Given the description of an element on the screen output the (x, y) to click on. 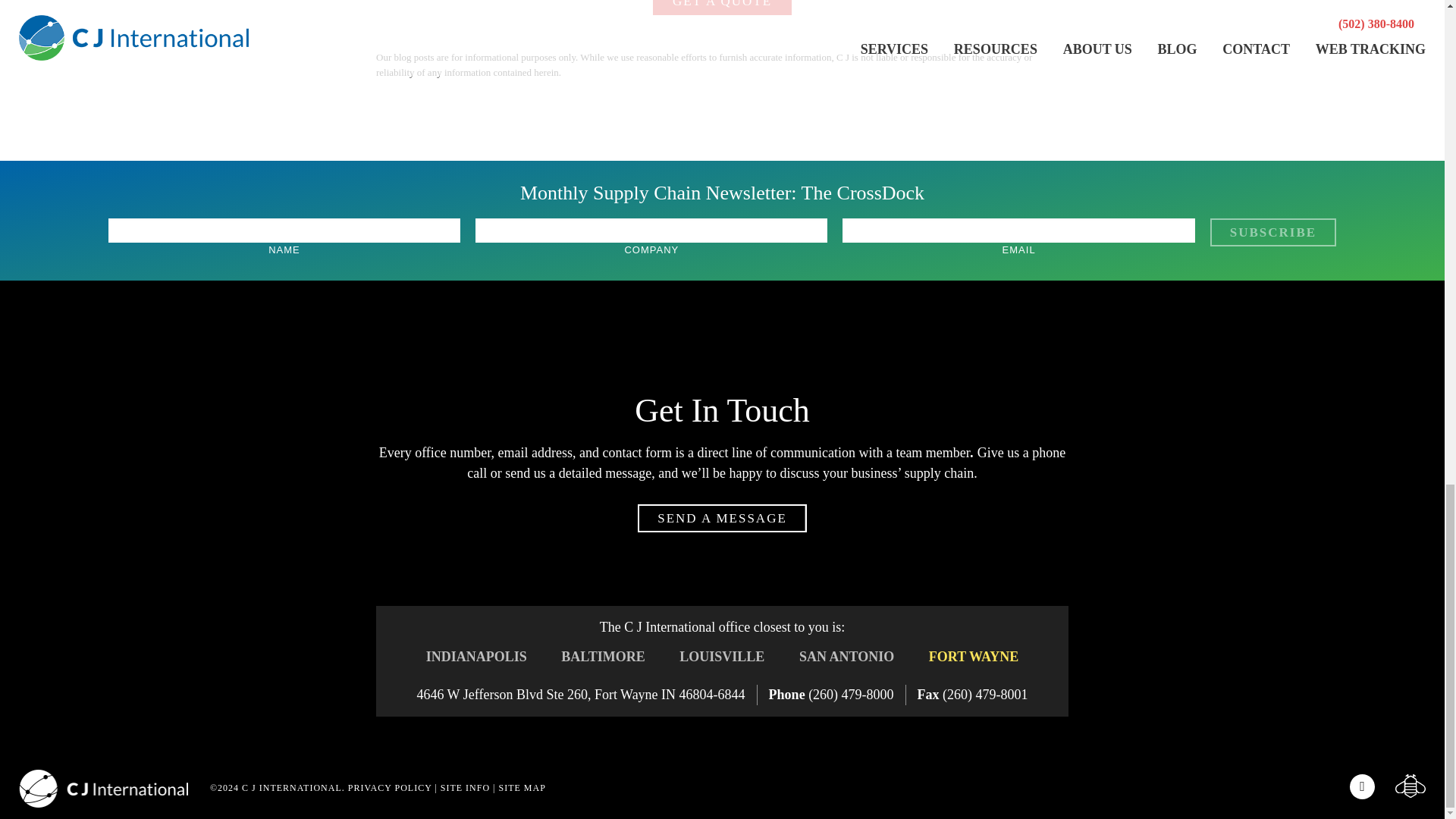
SUBSCRIBE (1272, 232)
GET A QUOTE (722, 7)
SEND A MESSAGE (721, 518)
SITE INFO (465, 787)
Louisville Web Design (1409, 785)
SITE MAP (522, 787)
PRIVACY POLICY (389, 787)
